Given the description of an element on the screen output the (x, y) to click on. 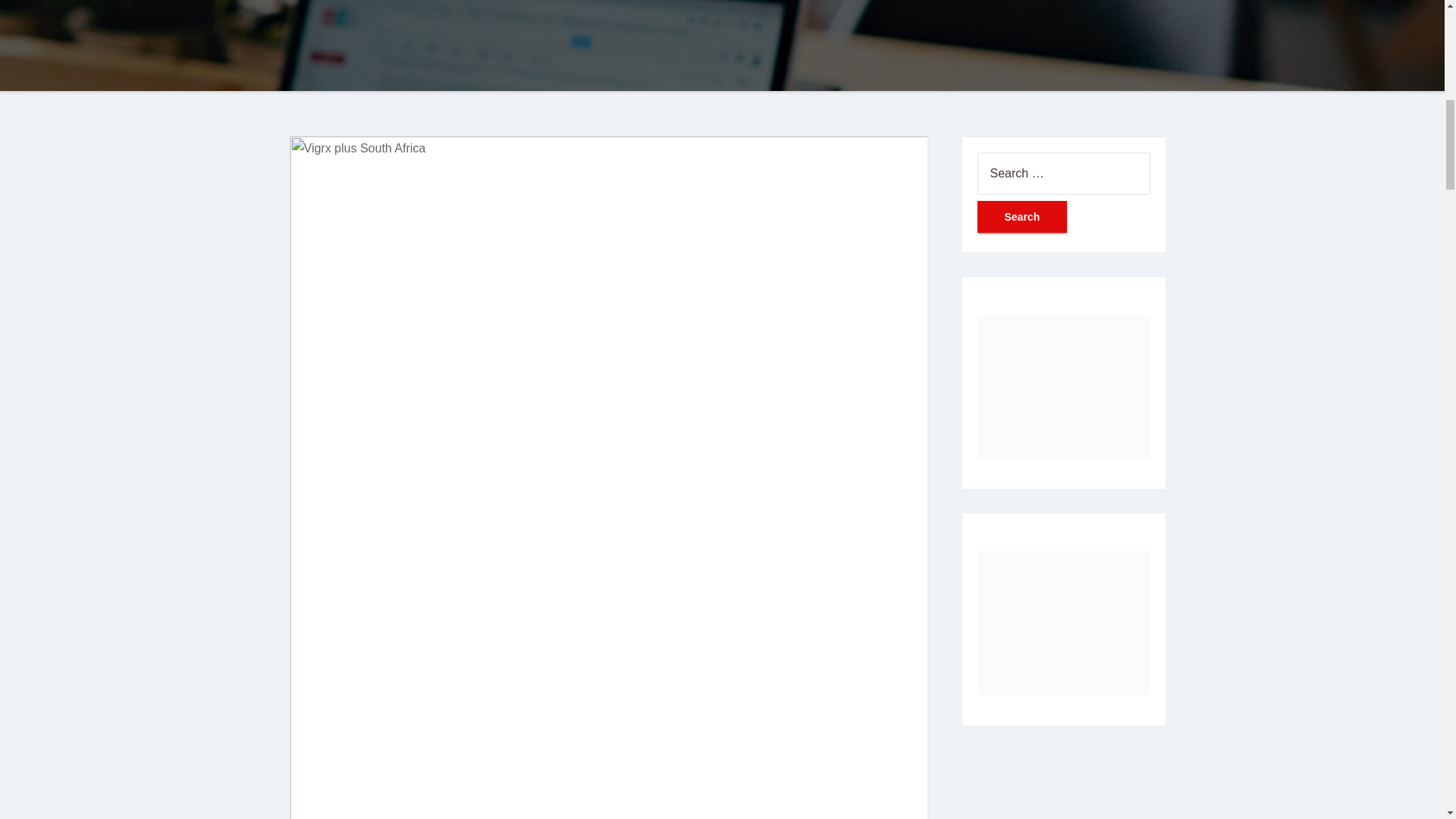
Search (1021, 216)
Search (1021, 216)
